Given the description of an element on the screen output the (x, y) to click on. 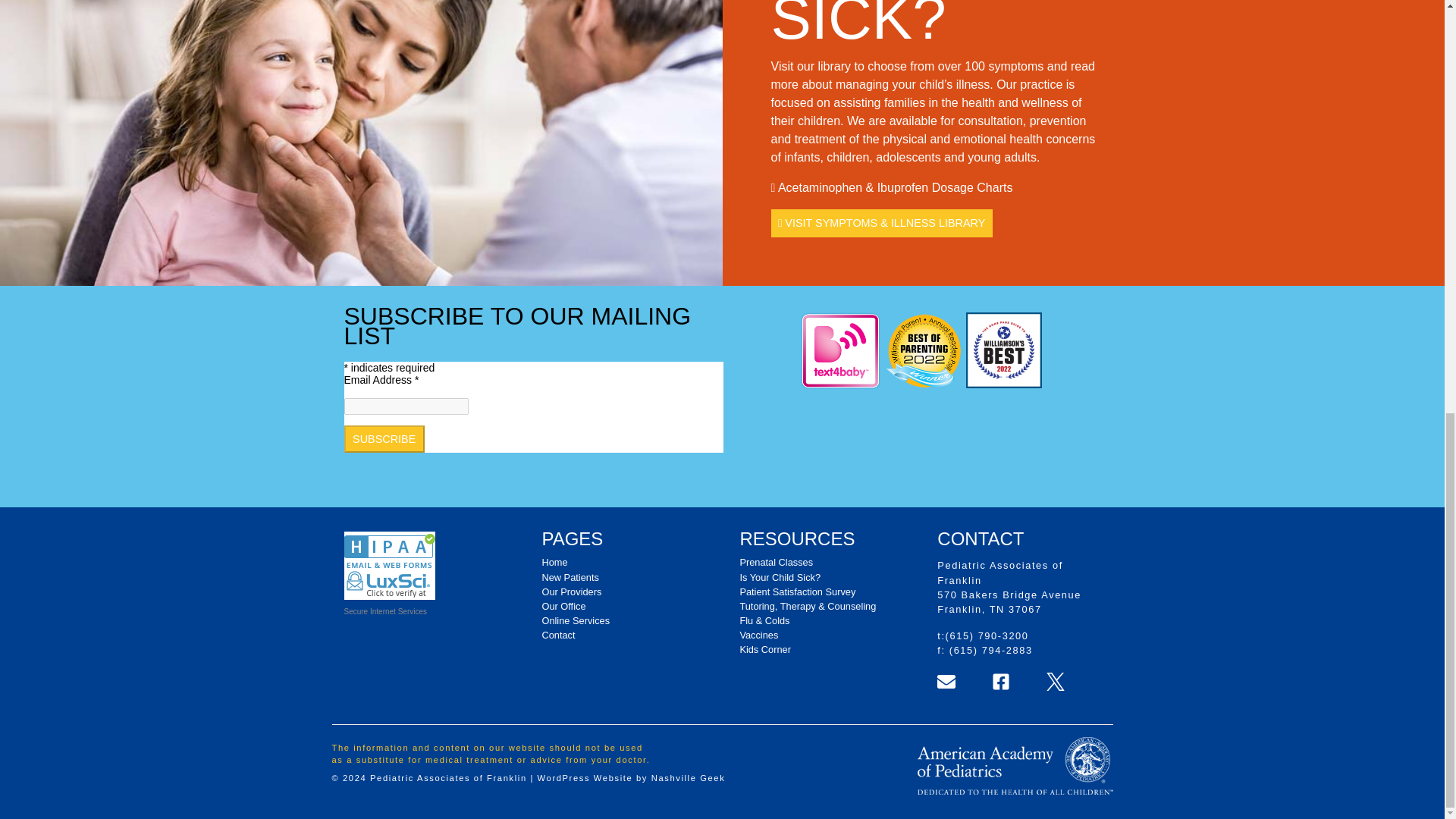
Subscribe (384, 438)
Subscribe (384, 438)
